Given the description of an element on the screen output the (x, y) to click on. 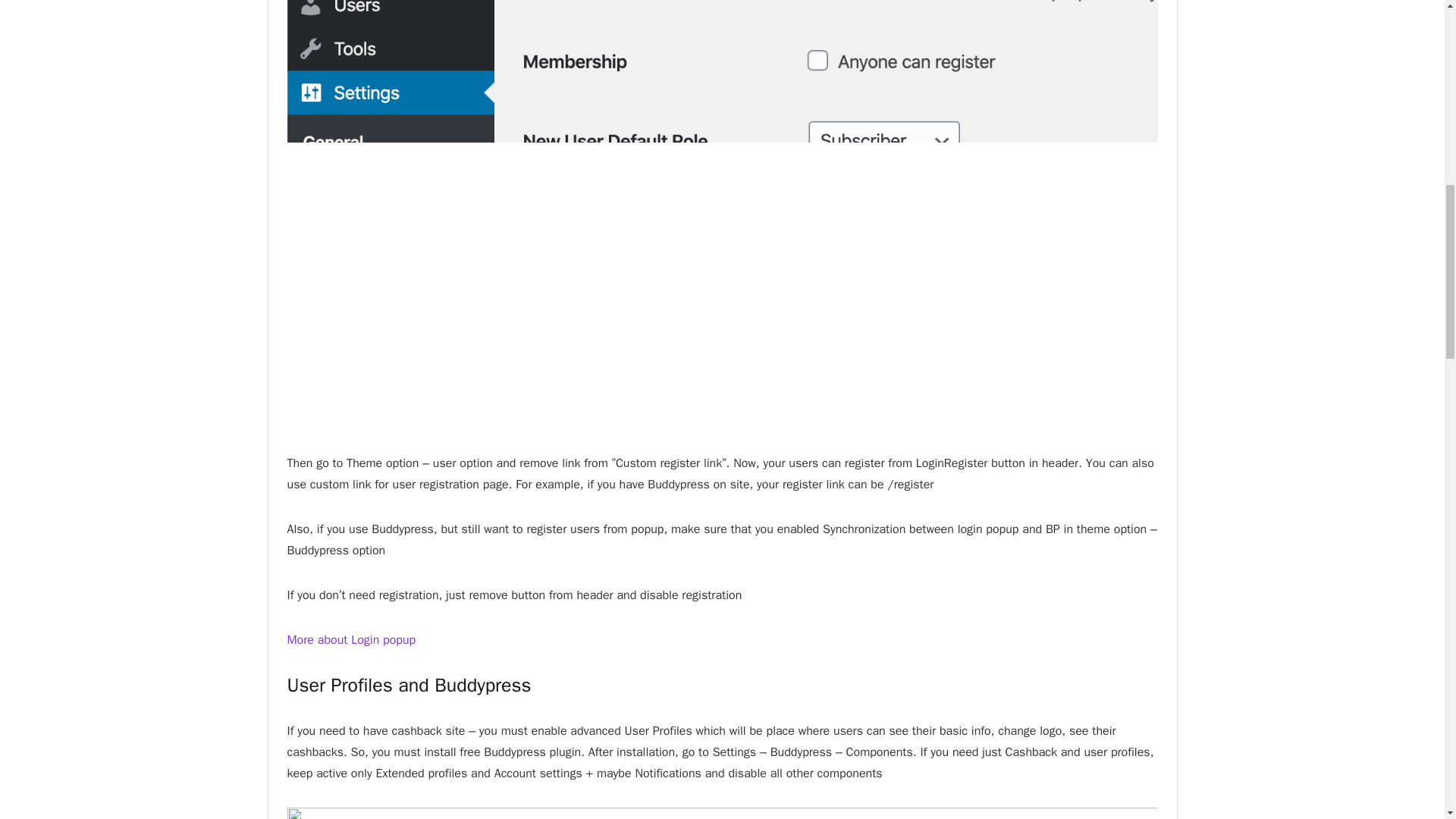
More about Login popup (350, 639)
